Given the description of an element on the screen output the (x, y) to click on. 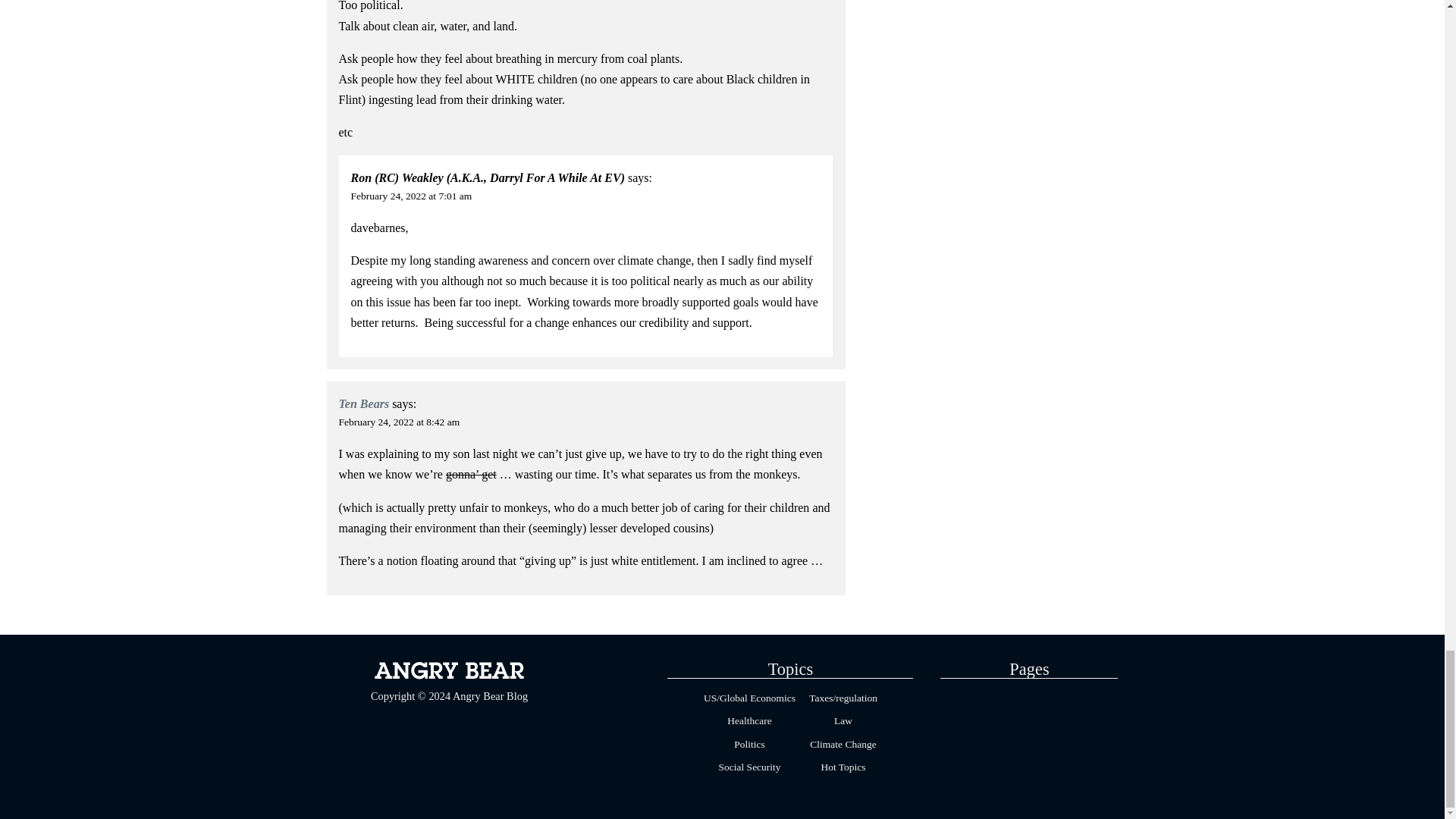
February 24, 2022 at 8:42 am (399, 421)
February 24, 2022 at 7:01 am (410, 195)
Ten Bears (364, 403)
